Given the description of an element on the screen output the (x, y) to click on. 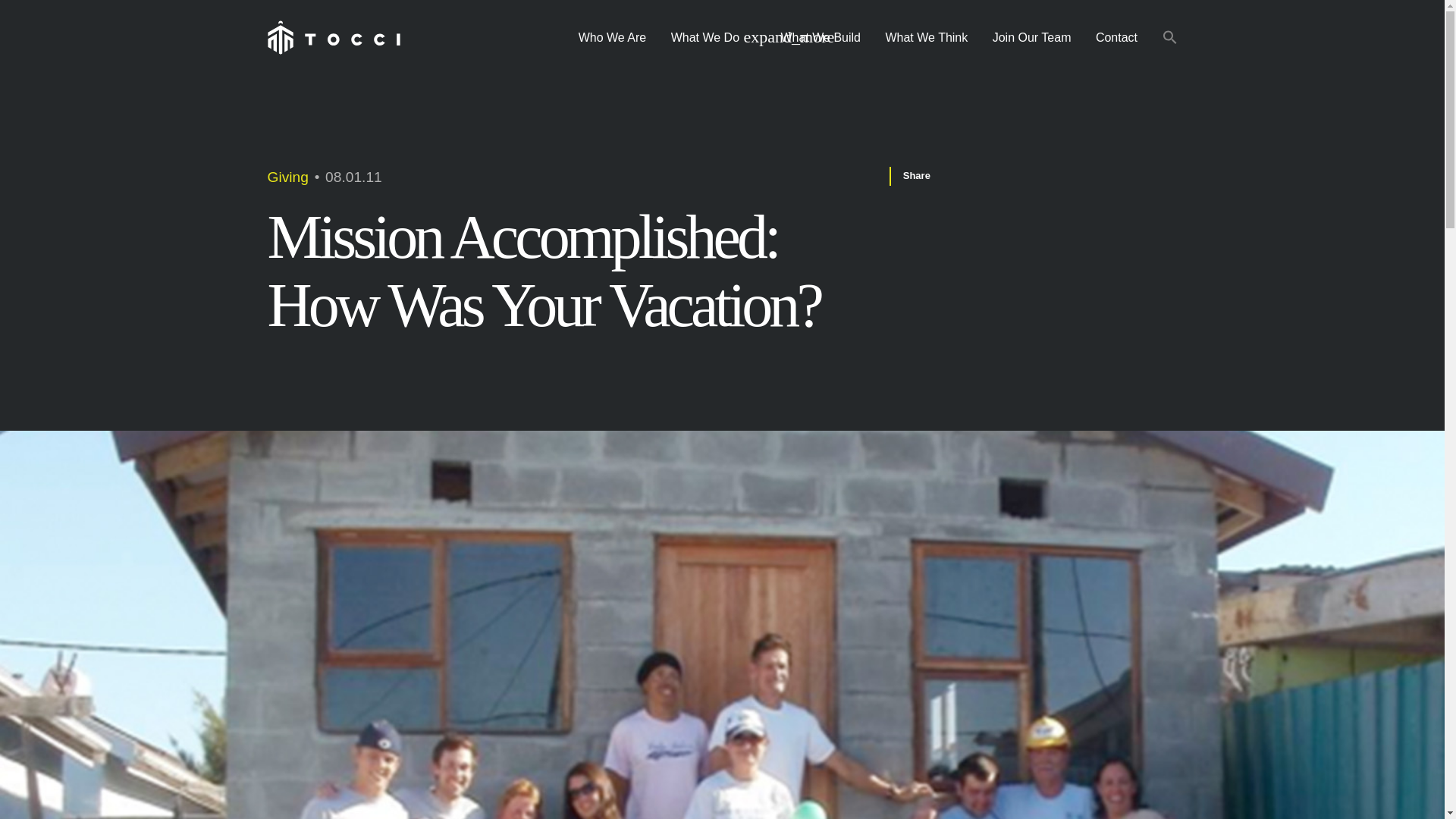
What We Do (714, 38)
Join Our Team (1031, 38)
What We Build (820, 38)
What We Think (926, 38)
Giving (286, 177)
Who We Are (612, 38)
